Given the description of an element on the screen output the (x, y) to click on. 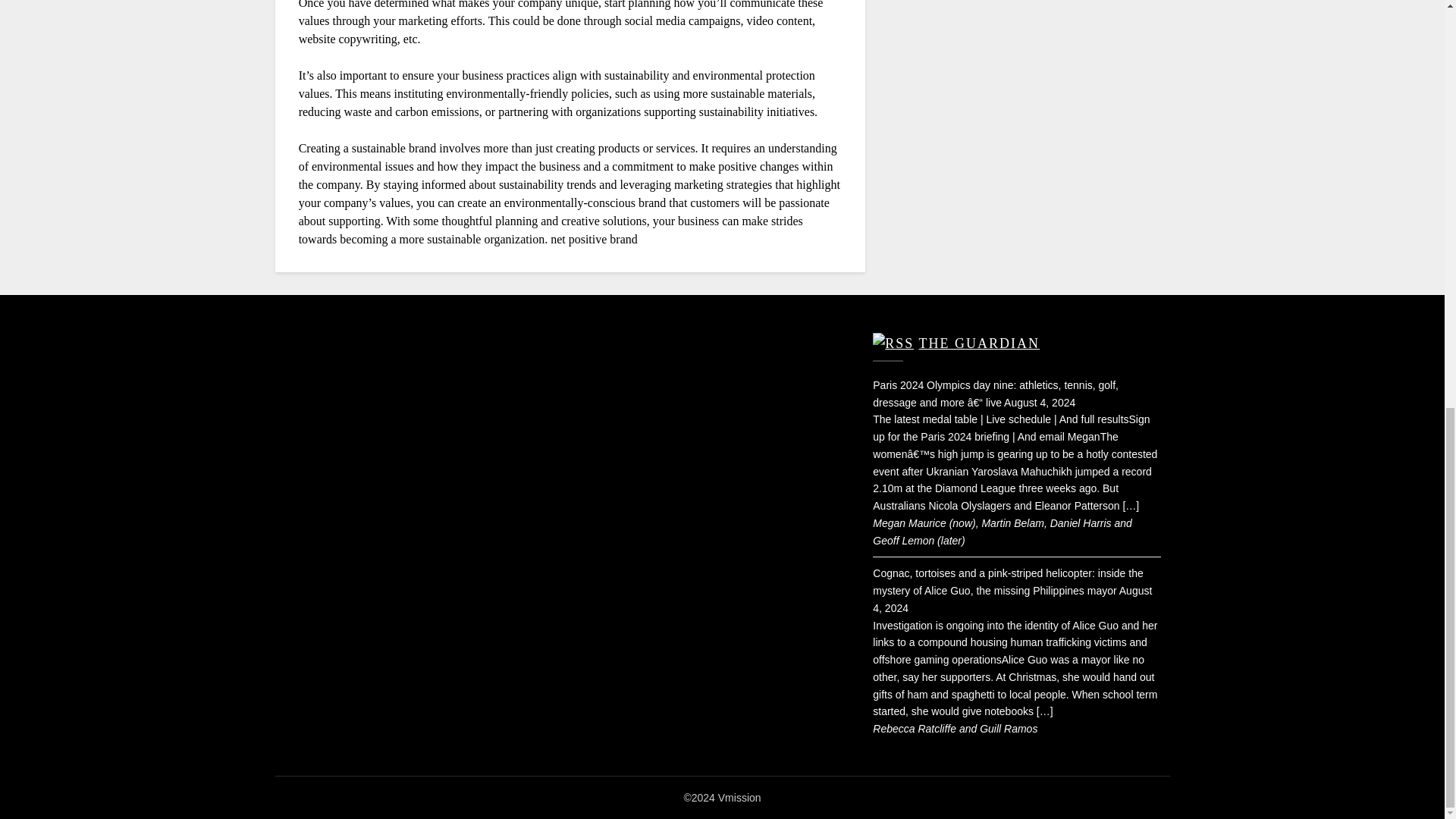
THE GUARDIAN (978, 343)
